Given the description of an element on the screen output the (x, y) to click on. 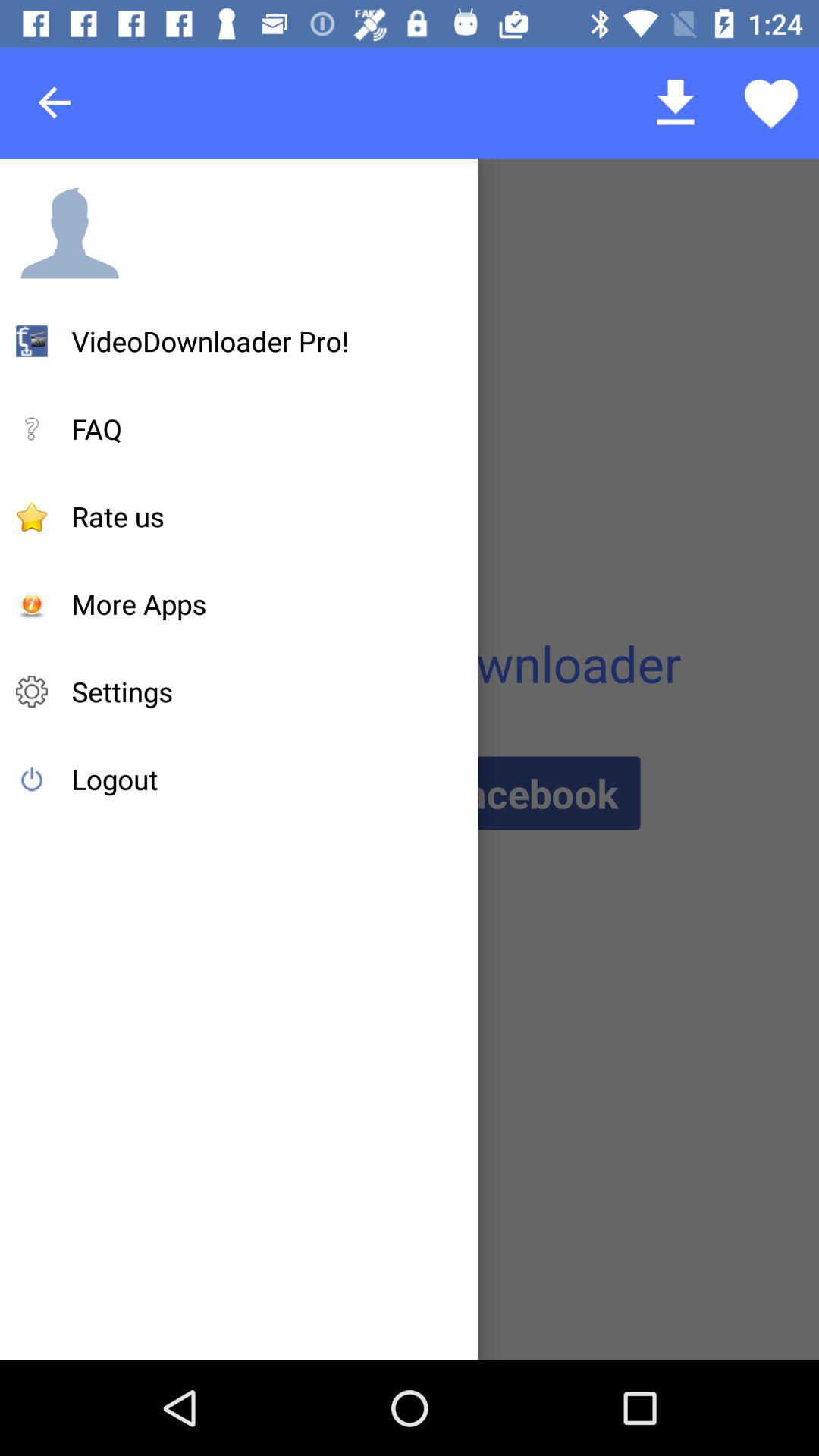
choose more apps (138, 603)
